Given the description of an element on the screen output the (x, y) to click on. 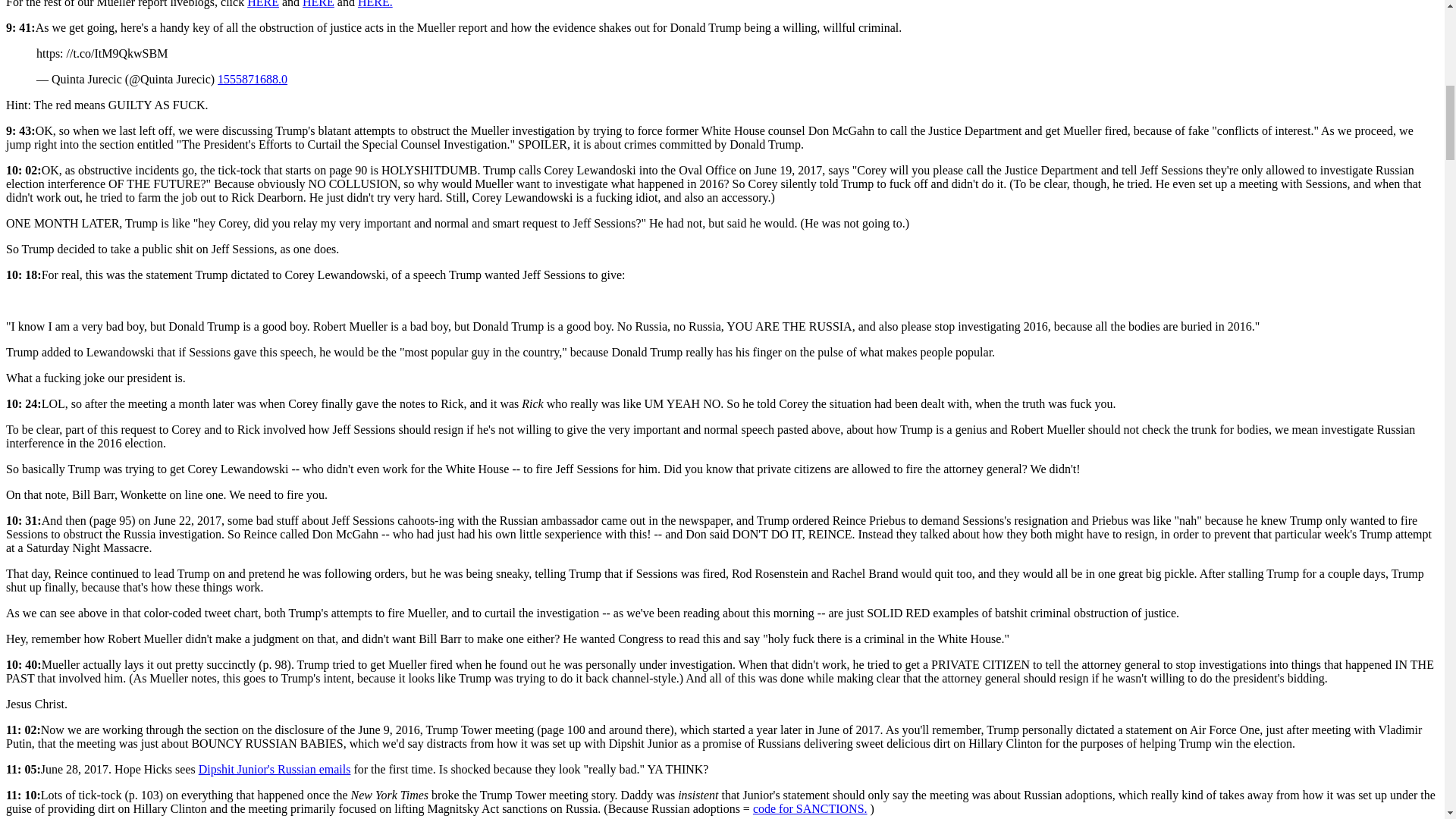
code for SANCTIONS. (809, 808)
Dipshit Junior's Russian emails (274, 768)
HERE. (375, 4)
HERE (318, 4)
1555871688.0 (251, 78)
HERE (263, 4)
